Given the description of an element on the screen output the (x, y) to click on. 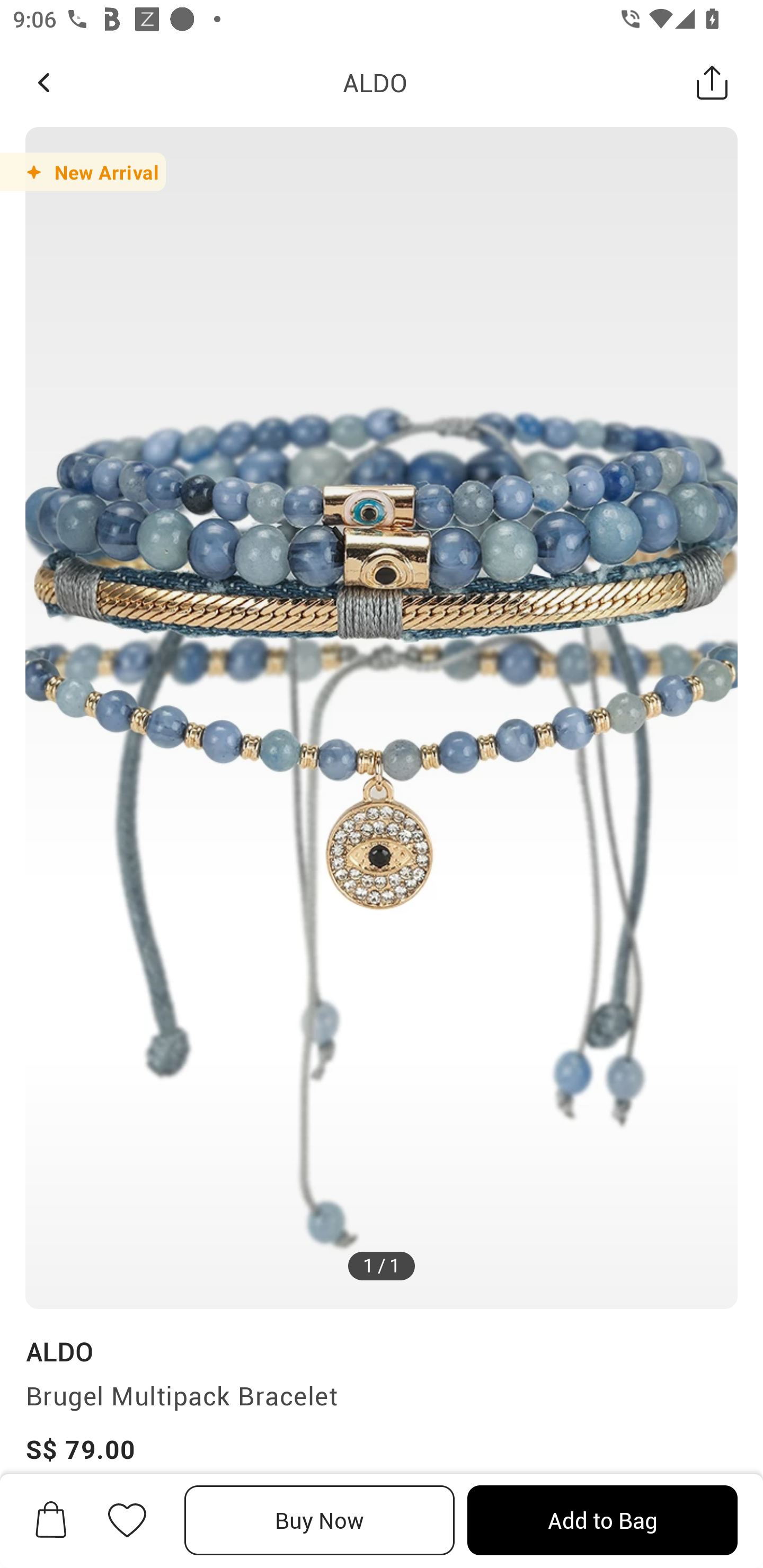
ALDO (375, 82)
Share this Product (711, 82)
ALDO (59, 1351)
Buy Now (319, 1519)
Add to Bag (601, 1519)
